Given the description of an element on the screen output the (x, y) to click on. 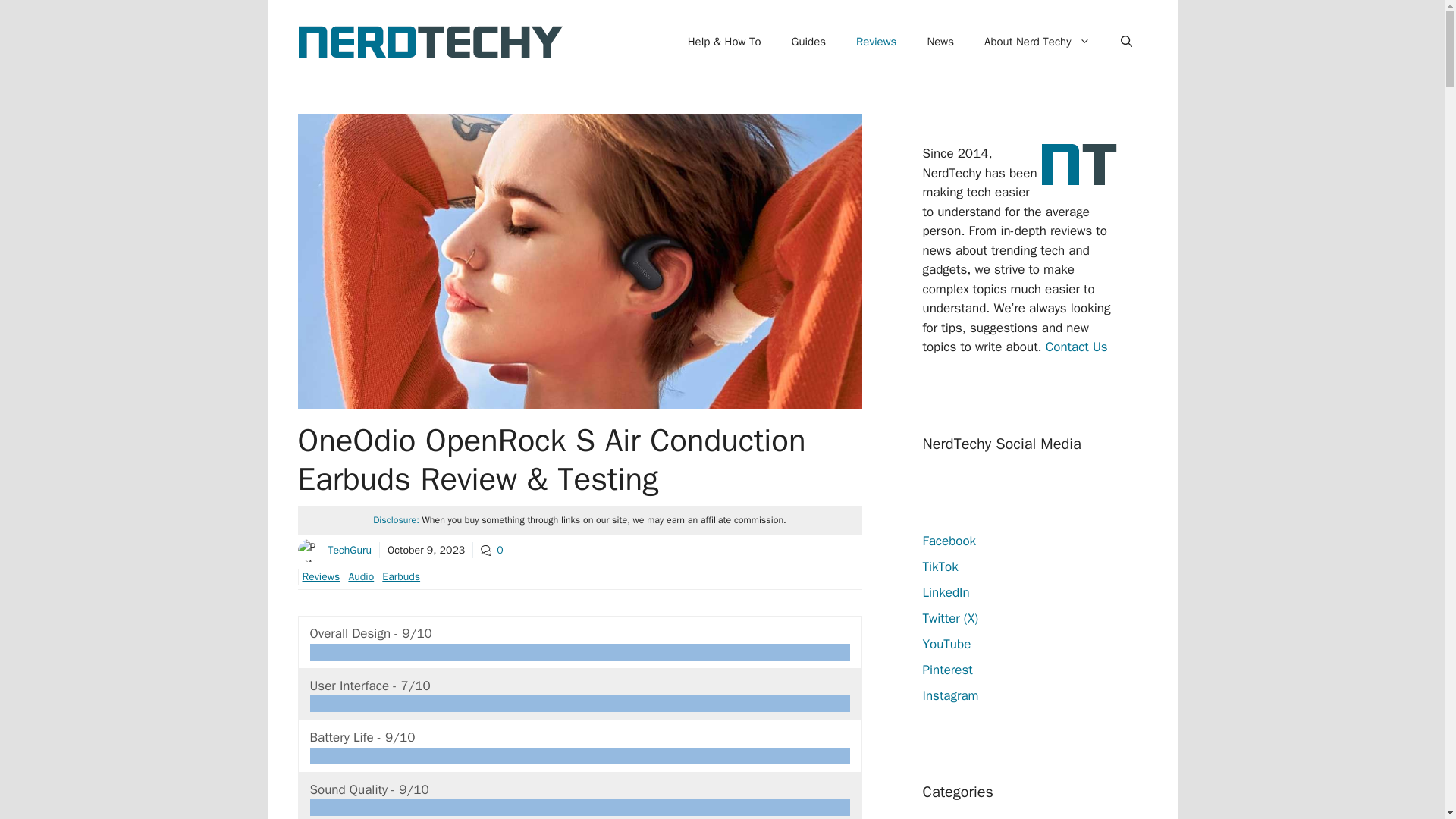
News (940, 41)
Reviews (318, 576)
TechGuru (349, 549)
Earbuds (398, 576)
About Nerd Techy (1037, 41)
Audio (358, 576)
Reviews (876, 41)
Guides (808, 41)
Disclosure: (395, 520)
